Given the description of an element on the screen output the (x, y) to click on. 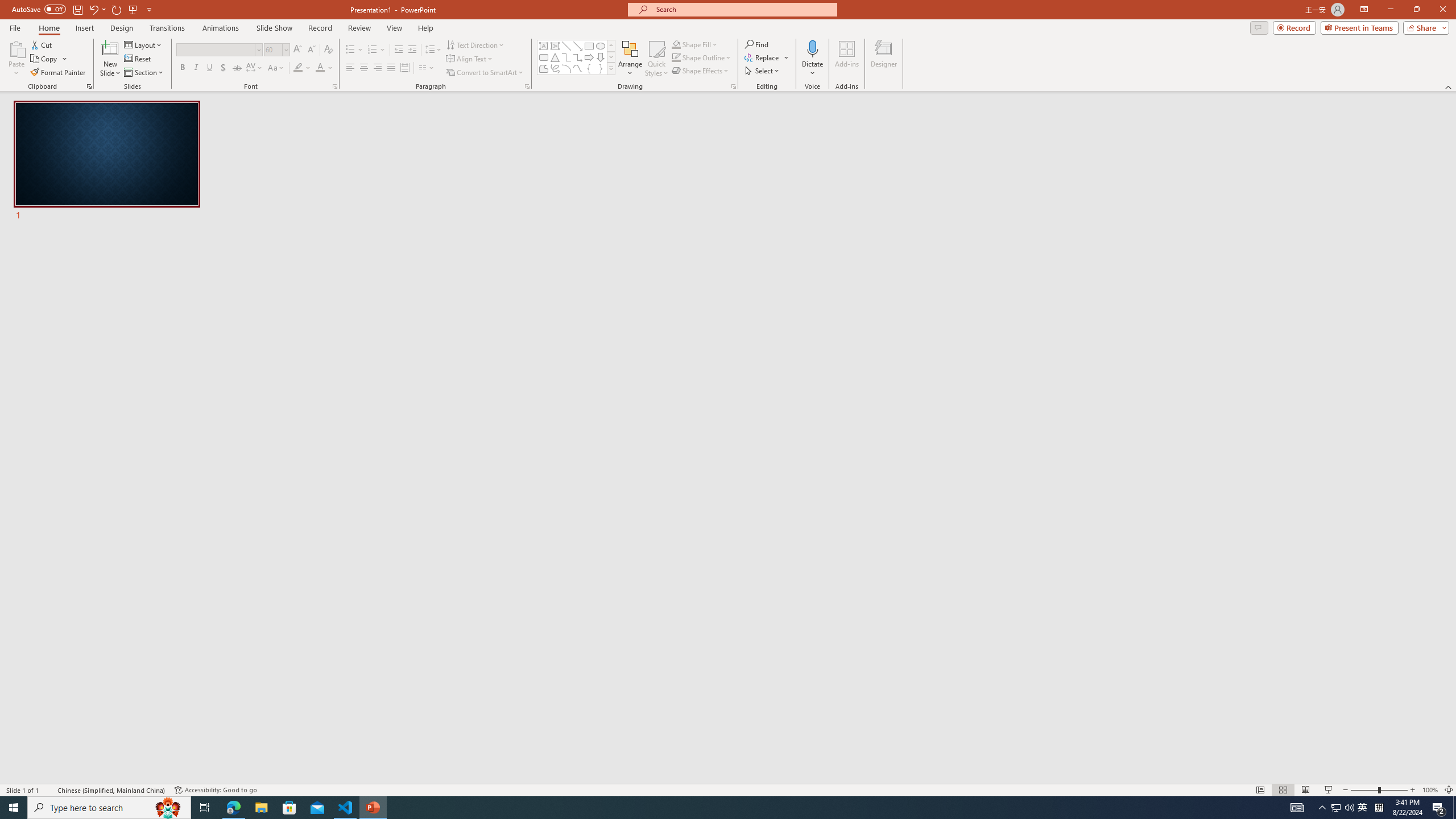
Select (762, 69)
Accessibility Checker Accessibility: Good to go (216, 790)
Line Spacing (433, 49)
Font... (334, 85)
Clear Formatting (327, 49)
Layout (143, 44)
Text Box (543, 45)
